Given the description of an element on the screen output the (x, y) to click on. 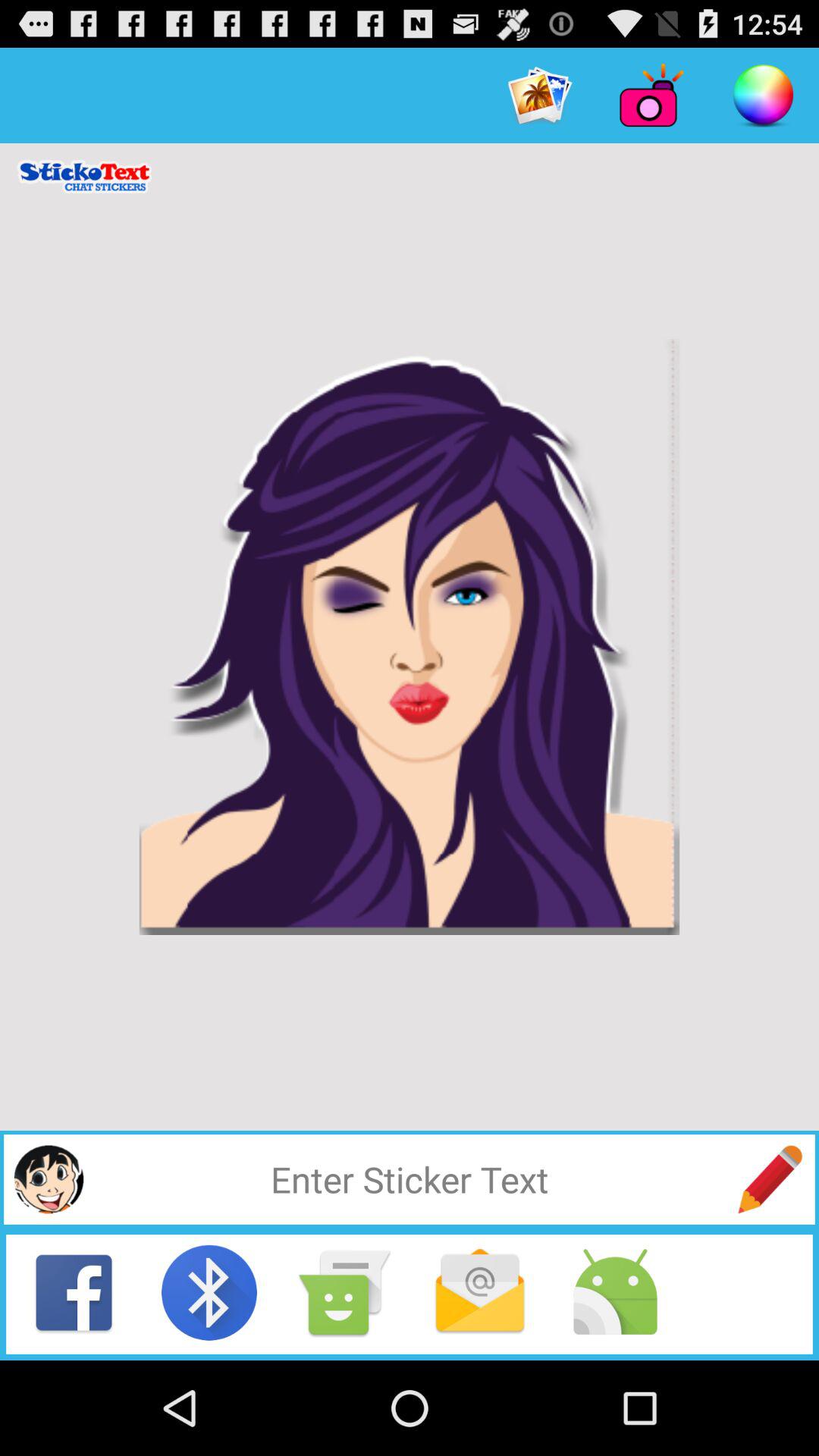
enter sticker text (770, 1179)
